Given the description of an element on the screen output the (x, y) to click on. 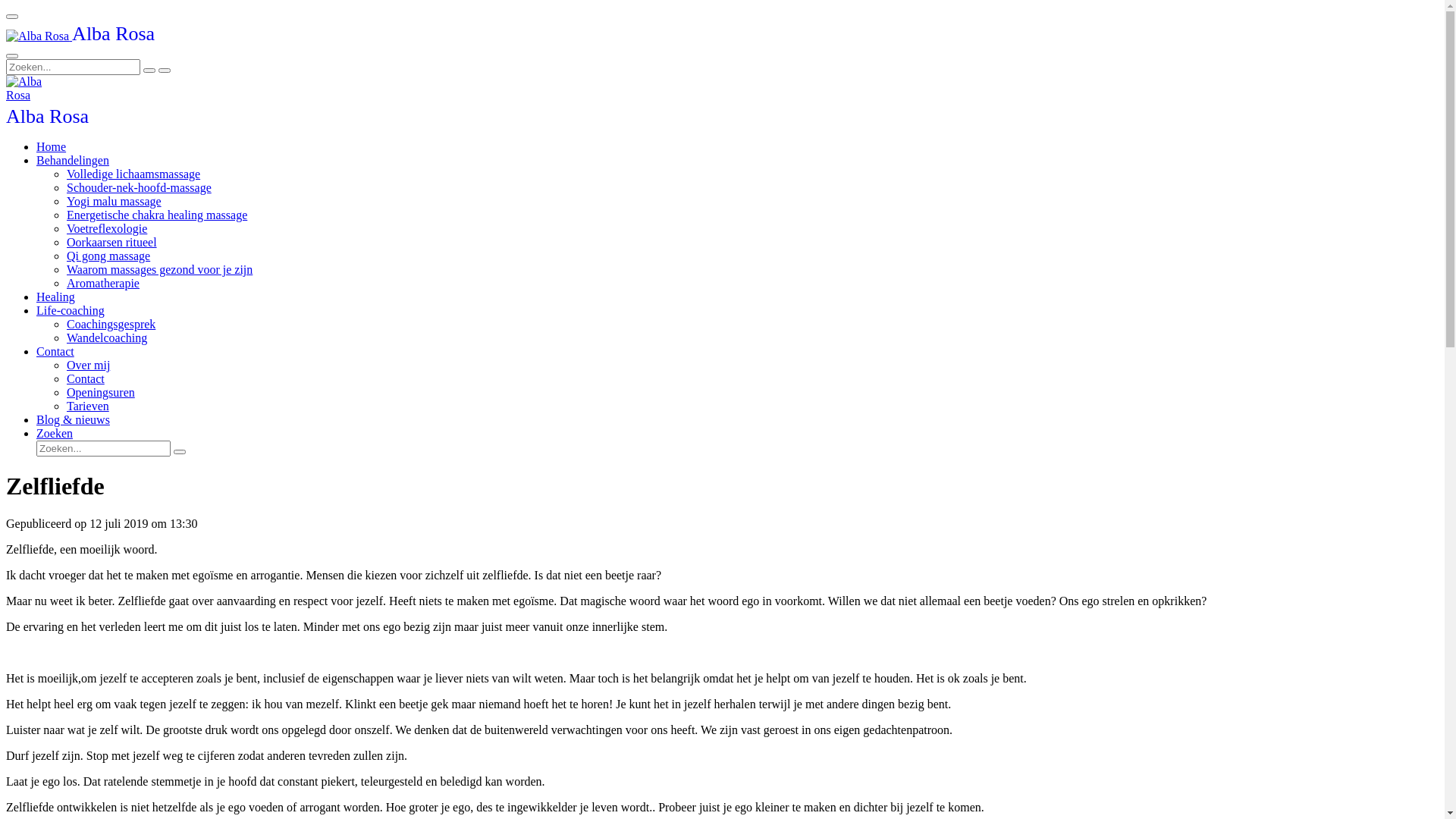
Wandelcoaching Element type: text (106, 337)
Contact Element type: text (85, 378)
Alba Rosa Element type: hover (34, 88)
Aromatherapie Element type: text (102, 282)
Home Element type: text (50, 146)
Over mij Element type: text (87, 364)
Voetreflexologie Element type: text (106, 228)
Alba Rosa Element type: hover (37, 36)
Energetische chakra healing massage Element type: text (156, 214)
Schouder-nek-hoofd-massage Element type: text (138, 187)
Coachingsgesprek Element type: text (110, 323)
Alba Rosa Element type: text (47, 118)
Healing Element type: text (55, 296)
Contact Element type: text (55, 351)
Behandelingen Element type: text (72, 159)
Tarieven Element type: text (87, 405)
Yogi malu massage Element type: text (113, 200)
Life-coaching Element type: text (70, 310)
Openingsuren Element type: text (100, 391)
Blog & nieuws Element type: text (72, 419)
Alba Rosa Element type: text (80, 35)
Qi gong massage Element type: text (108, 255)
Zoeken Element type: text (54, 432)
Oorkaarsen ritueel Element type: text (111, 241)
Volledige lichaamsmassage Element type: text (133, 173)
Waarom massages gezond voor je zijn Element type: text (159, 269)
